Given the description of an element on the screen output the (x, y) to click on. 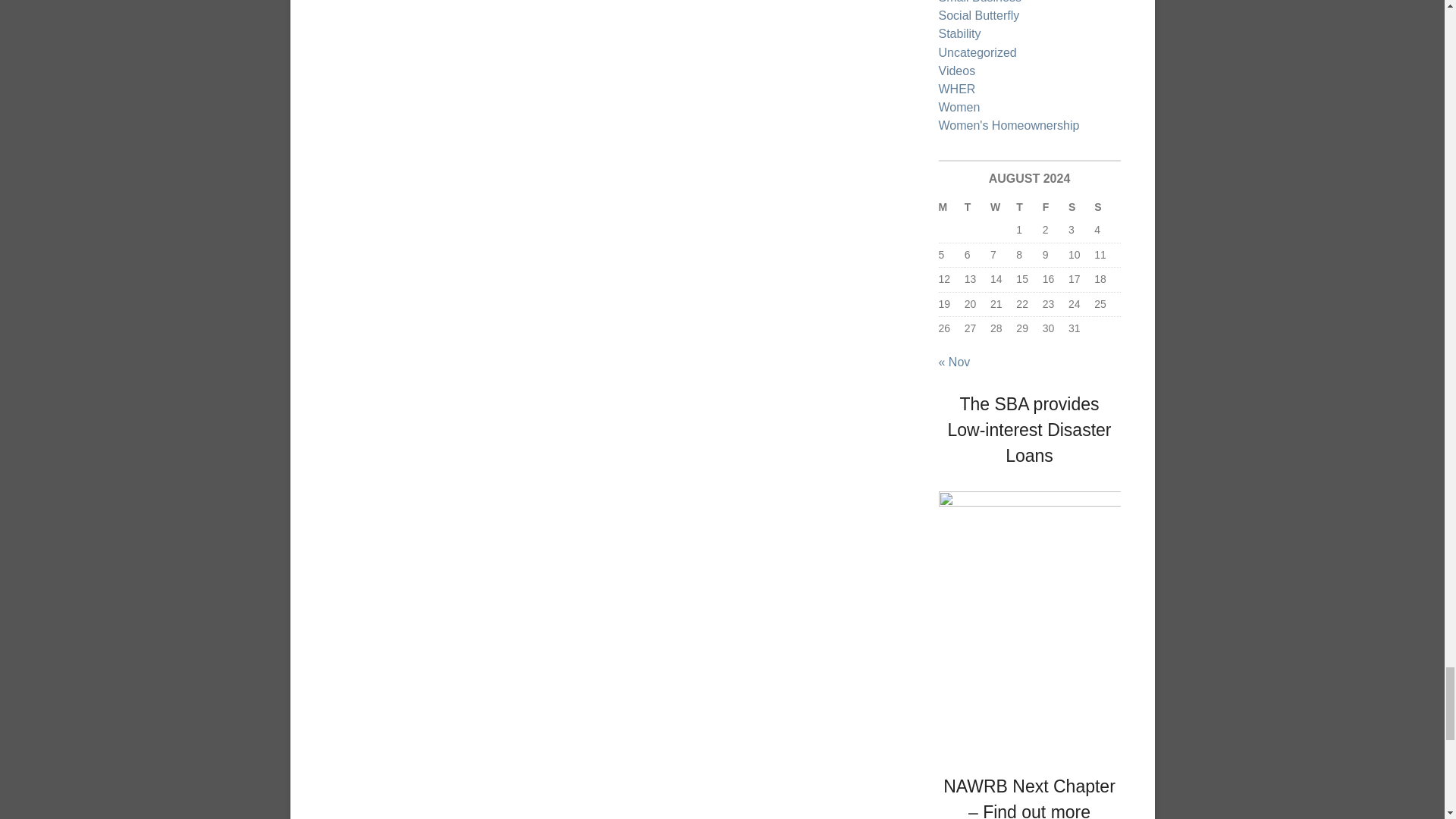
Tuesday (976, 207)
Friday (1055, 207)
Monday (951, 207)
Saturday (1081, 207)
Wednesday (1003, 207)
Sunday (1106, 207)
Thursday (1029, 207)
